Given the description of an element on the screen output the (x, y) to click on. 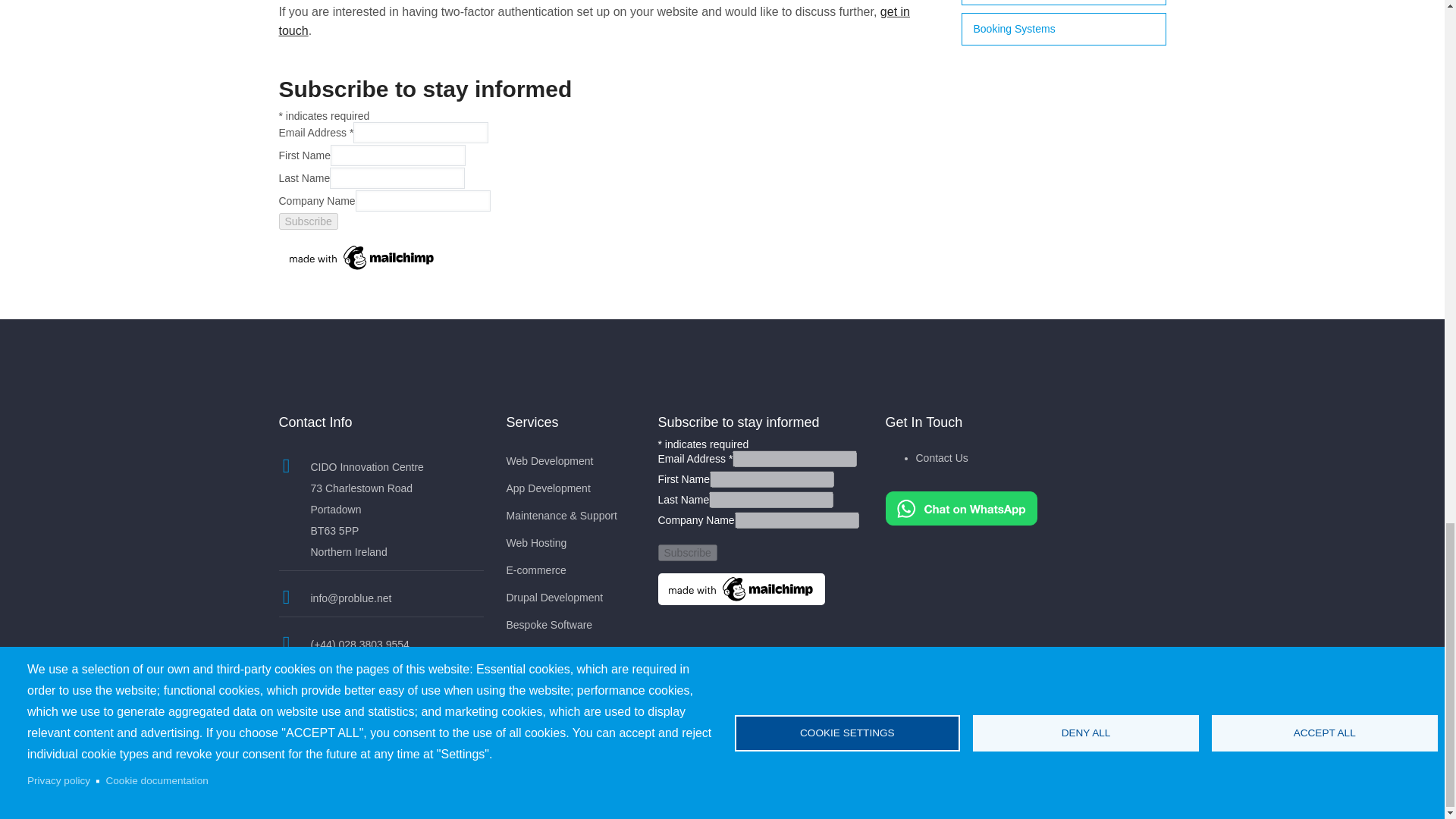
Subscribe (687, 552)
Subscribe (308, 221)
Mailchimp - email marketing made easy and fun (362, 247)
Mailchimp - email marketing made easy and fun (741, 579)
get in touch (594, 20)
Subscribe (308, 221)
